Given the description of an element on the screen output the (x, y) to click on. 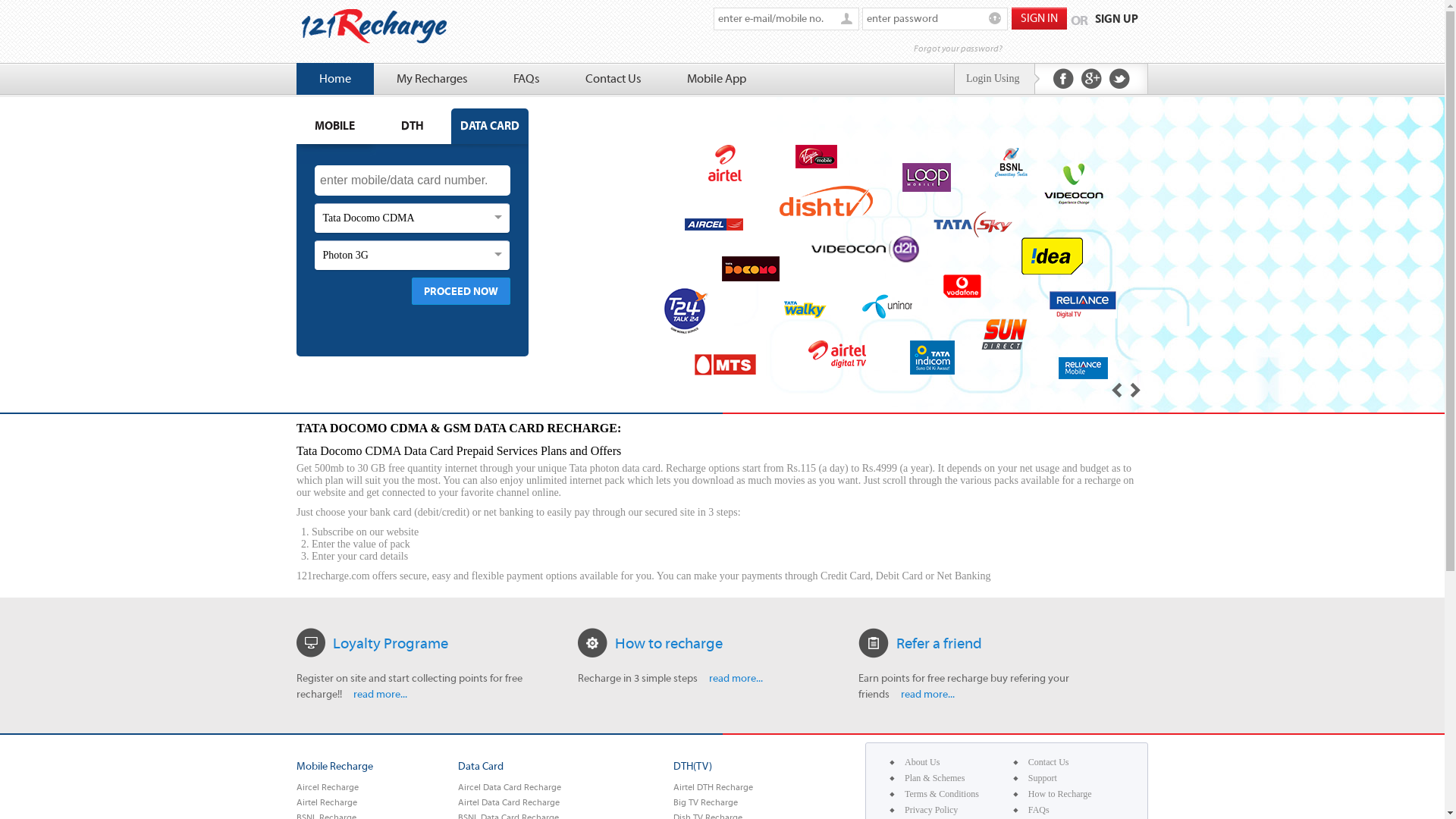
Home Element type: text (334, 78)
Airtel DTH Recharge Element type: text (713, 786)
MOBILE Element type: text (334, 126)
Airtel Data Card Recharge Element type: text (508, 802)
Refer a friend Element type: text (939, 643)
Aircel Data Card Recharge Element type: text (509, 786)
Privacy Policy Element type: text (930, 809)
FAQs Element type: text (526, 78)
read more... Element type: text (926, 694)
Support Element type: text (1042, 778)
DATA CARD Element type: text (489, 126)
Sign in Element type: text (1038, 18)
How to recharge Element type: text (668, 643)
PROCEED NOW Element type: text (460, 290)
read more... Element type: text (734, 678)
Big TV Recharge Element type: text (705, 802)
Airtel Recharge Element type: text (326, 802)
About Us Element type: text (921, 762)
DTH Element type: text (412, 126)
FAQs Element type: text (1038, 809)
Aircel Recharge Element type: text (327, 786)
Forgot your password? Element type: text (1028, 46)
SIGN UP Element type: text (1116, 18)
Contact Us Element type: text (613, 78)
My Recharges Element type: text (431, 78)
read more... Element type: text (379, 694)
Loyalty Programe Element type: text (390, 643)
Terms & Conditions Element type: text (941, 794)
Plan & Schemes Element type: text (934, 778)
Contact Us Element type: text (1048, 762)
How to Recharge Element type: text (1060, 794)
Mobile App Element type: text (716, 78)
